Given the description of an element on the screen output the (x, y) to click on. 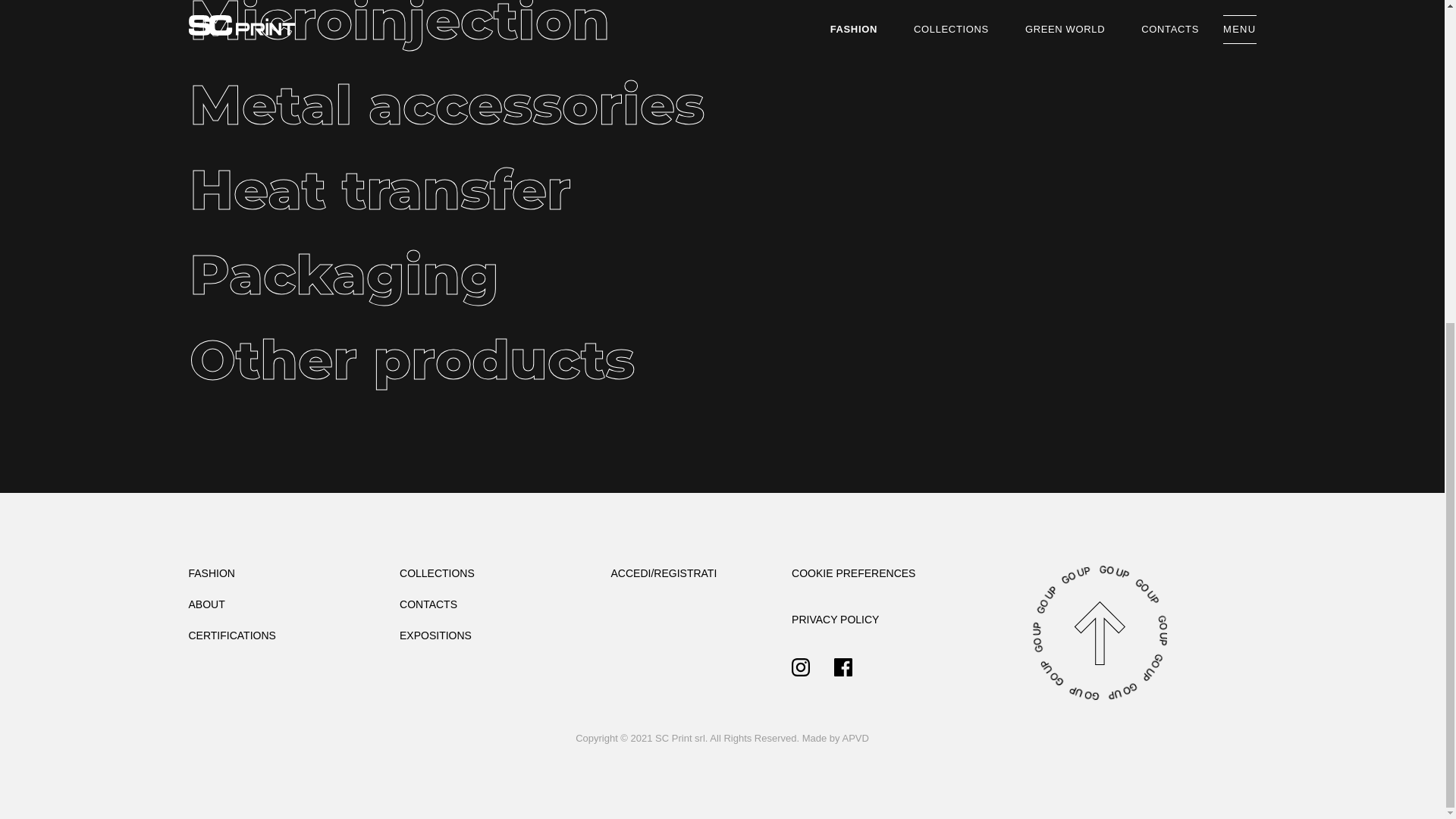
CONTACTS (427, 604)
ABOUT (205, 604)
Packaging (492, 277)
CERTIFICATIONS (231, 635)
COLLECTIONS (436, 573)
Metal accessories (492, 107)
Microinjection (492, 24)
EXPOSITIONS (434, 635)
Heat transfer (492, 192)
Other products (492, 361)
